Given the description of an element on the screen output the (x, y) to click on. 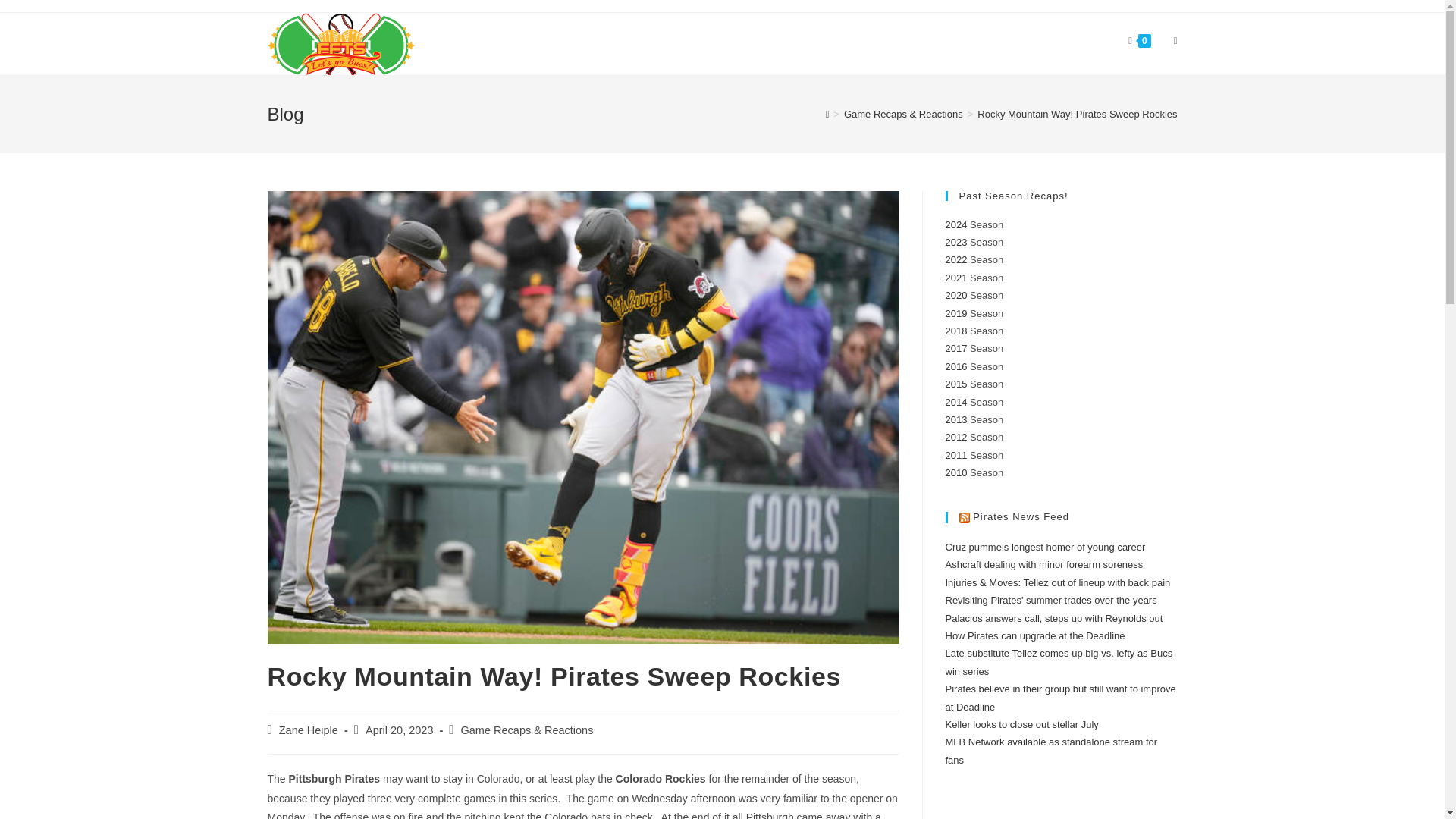
Zane Heiple (308, 729)
Toggle website search (1175, 40)
Rocky Mountain Way! Pirates Sweep Rockies (1076, 113)
Posts by Zane Heiple (308, 729)
0 (1138, 40)
